Given the description of an element on the screen output the (x, y) to click on. 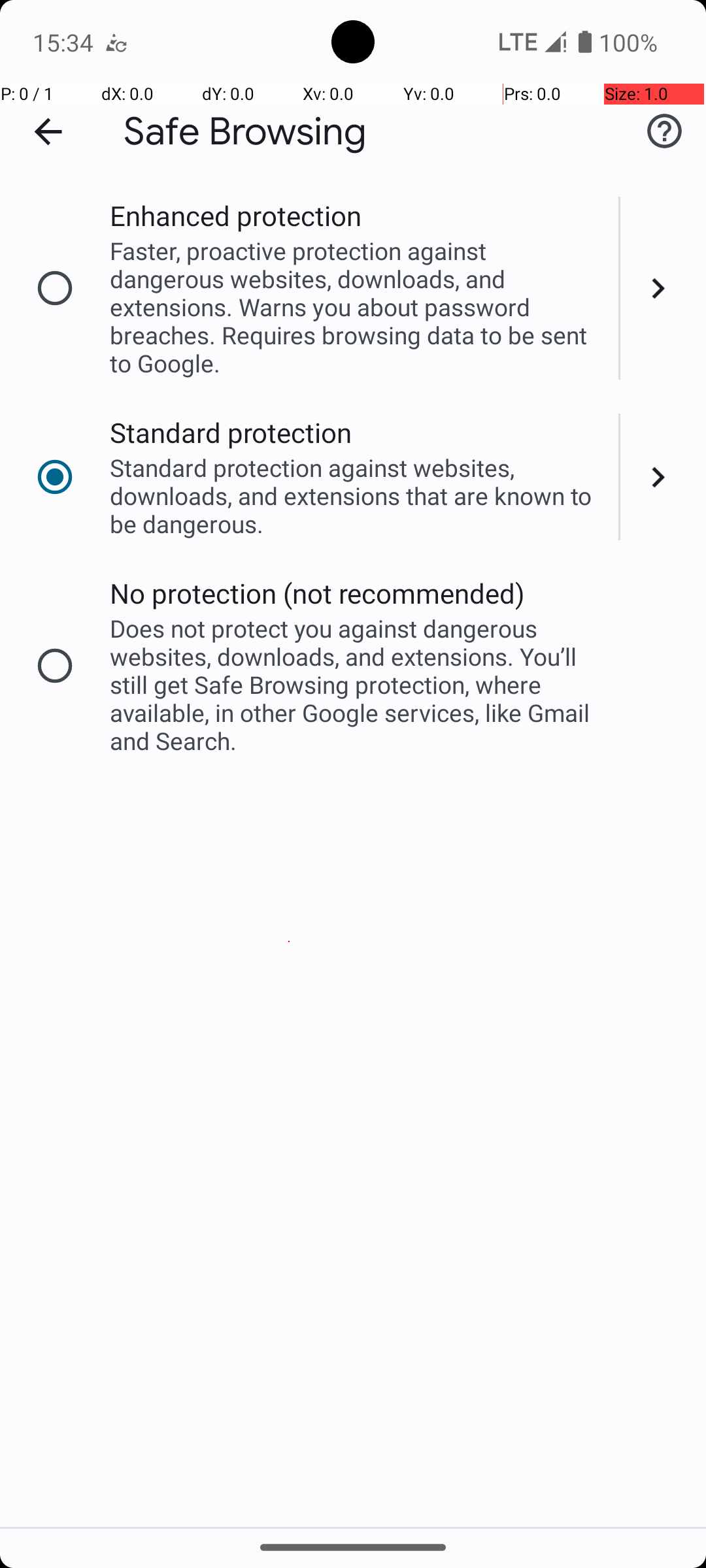
Safe Browsing Element type: android.widget.TextView (244, 131)
Enhanced protection Element type: android.widget.TextView (235, 214)
Faster, proactive protection against dangerous websites, downloads, and extensions. Warns you about password breaches. Requires browsing data to be sent to Google. Element type: android.widget.TextView (355, 306)
Standard protection Element type: android.widget.TextView (230, 431)
Standard protection against websites, downloads, and extensions that are known to be dangerous. Element type: android.widget.TextView (355, 495)
No protection (not recommended) Element type: android.widget.TextView (317, 592)
Does not protect you against dangerous websites, downloads, and extensions. You’ll still get Safe Browsing protection, where available, in other Google services, like Gmail and Search. Element type: android.widget.TextView (355, 684)
